Given the description of an element on the screen output the (x, y) to click on. 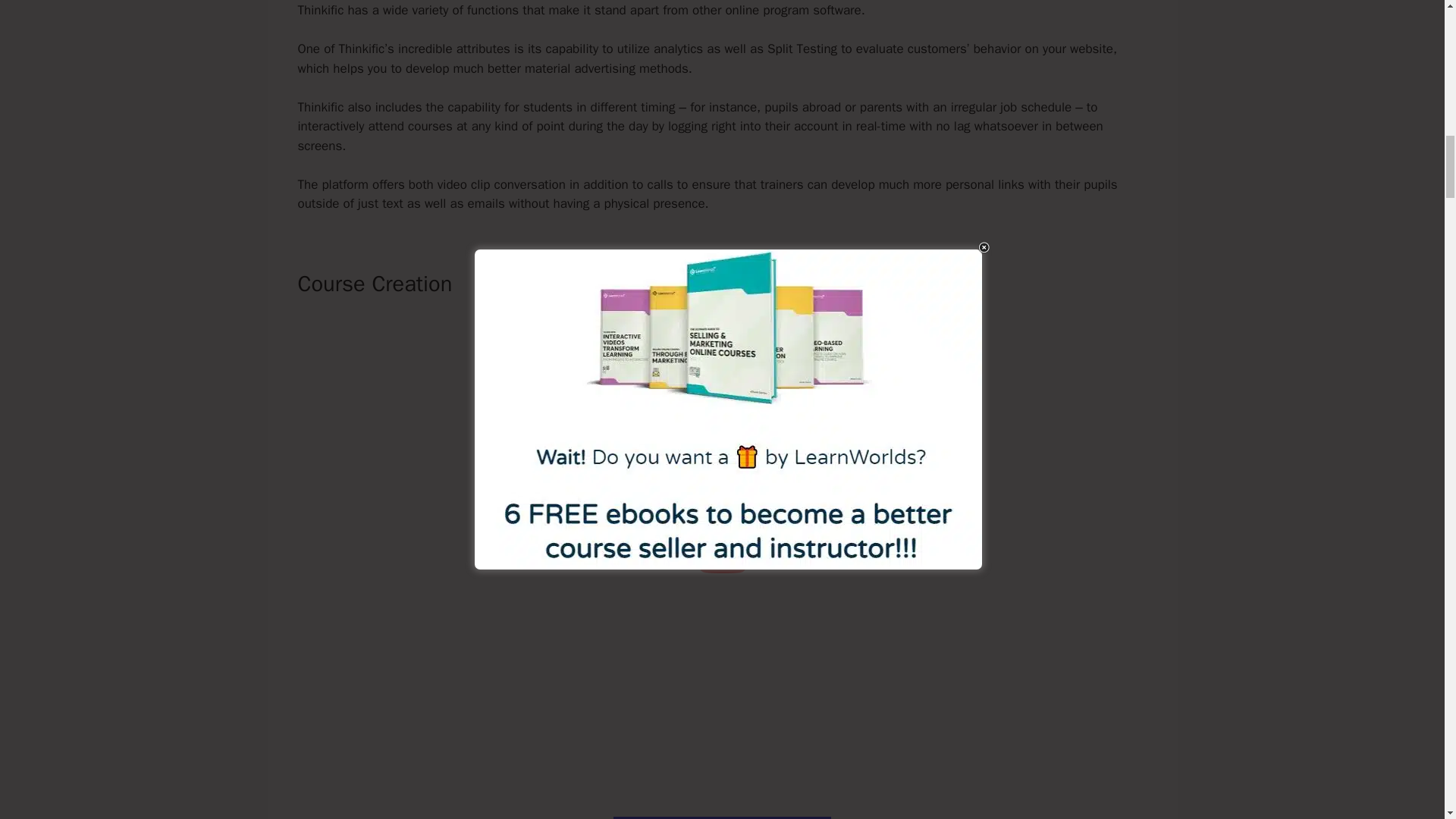
Watch Thinkific Demo (720, 817)
